Given the description of an element on the screen output the (x, y) to click on. 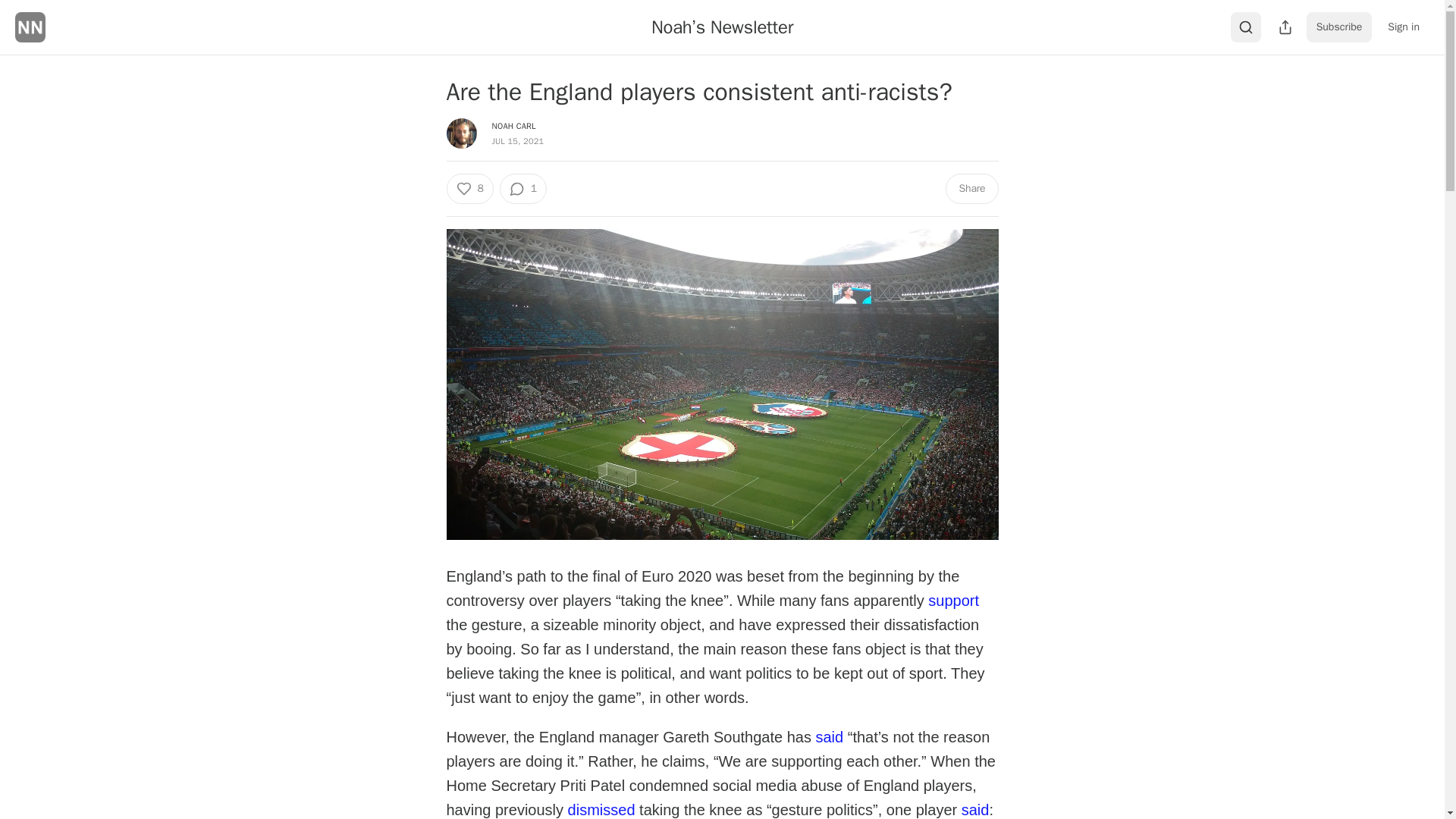
1 (523, 188)
support (953, 599)
Subscribe (1339, 27)
dismissed (600, 808)
NOAH CARL (513, 125)
Share (970, 188)
Sign in (1403, 27)
said (829, 736)
said (975, 808)
8 (469, 188)
